Given the description of an element on the screen output the (x, y) to click on. 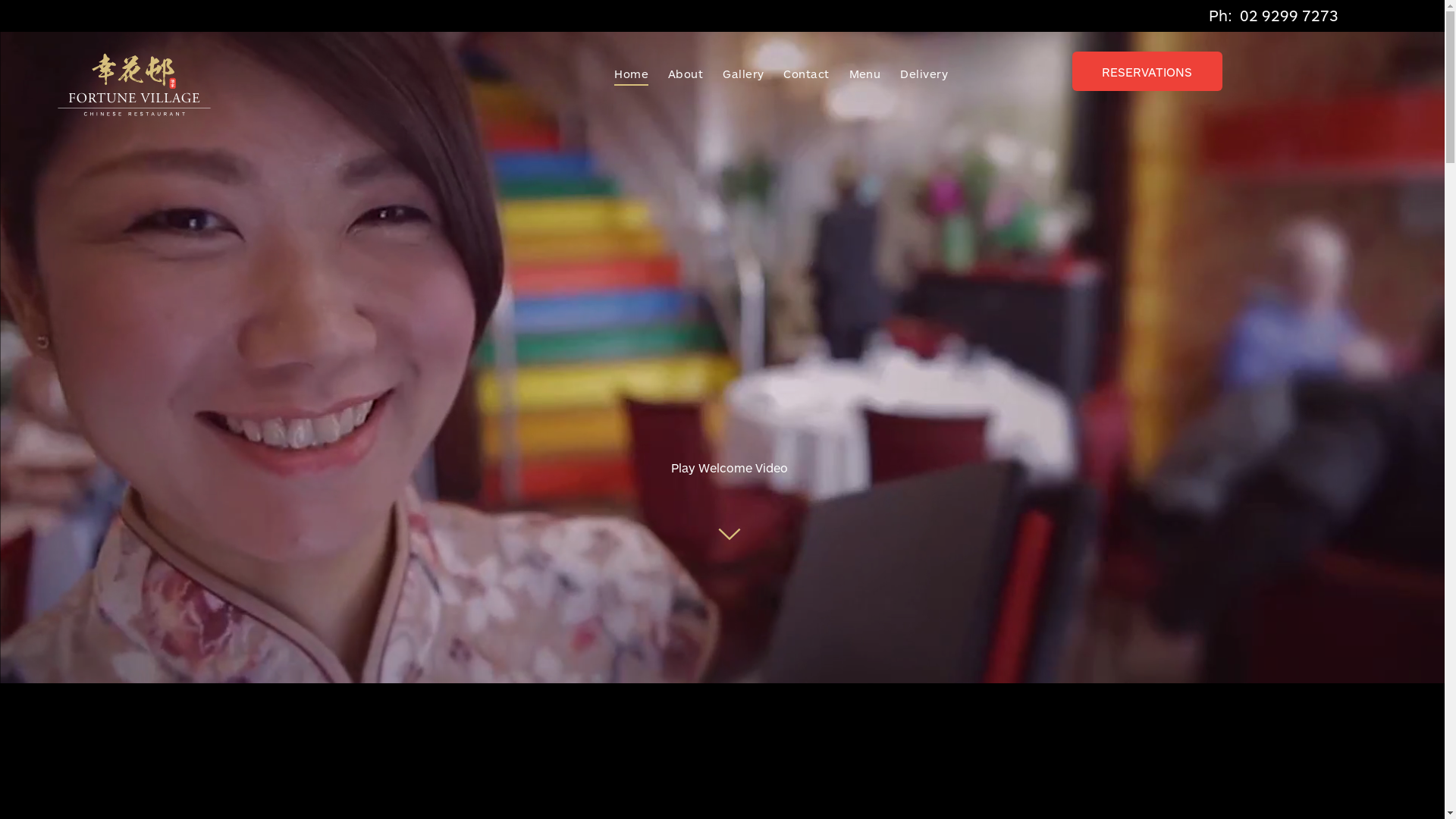
Contact Element type: text (799, 73)
RESERVATIONS Element type: text (1147, 71)
Menu Element type: text (858, 73)
Delivery Element type: text (917, 73)
About Element type: text (679, 73)
Gallery Element type: text (736, 73)
02 9299 7273 Element type: text (1288, 15)
Home Element type: text (625, 73)
